Given the description of an element on the screen output the (x, y) to click on. 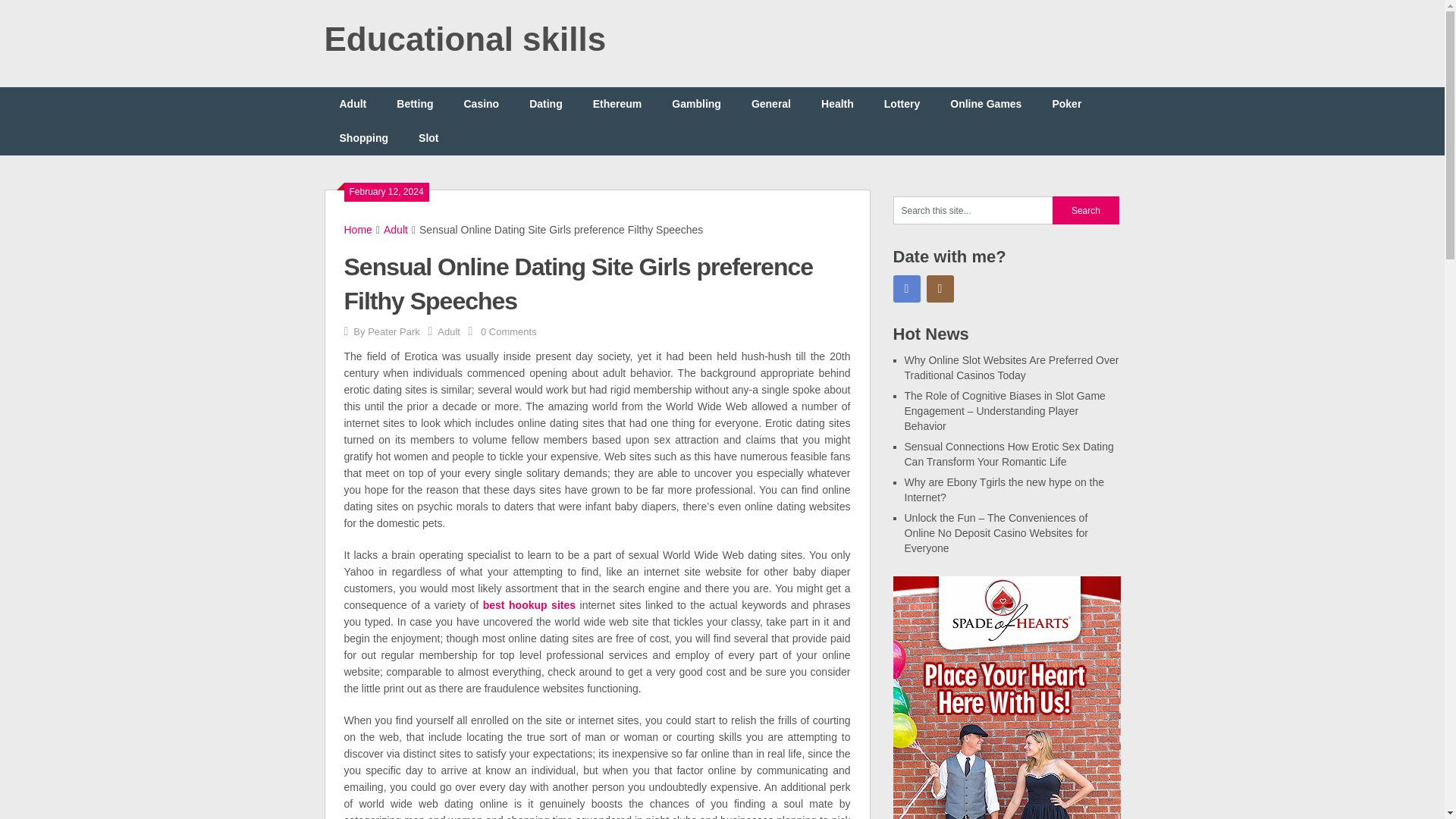
Ethereum (618, 103)
Betting (414, 103)
Search (1085, 210)
Online Games (985, 103)
Adult (449, 331)
best hookup sites (529, 604)
Facebook (906, 288)
Casino (480, 103)
Adult (352, 103)
Slot (427, 138)
Home (357, 229)
Search (1085, 210)
Poker (1066, 103)
Search this site... (972, 210)
